Given the description of an element on the screen output the (x, y) to click on. 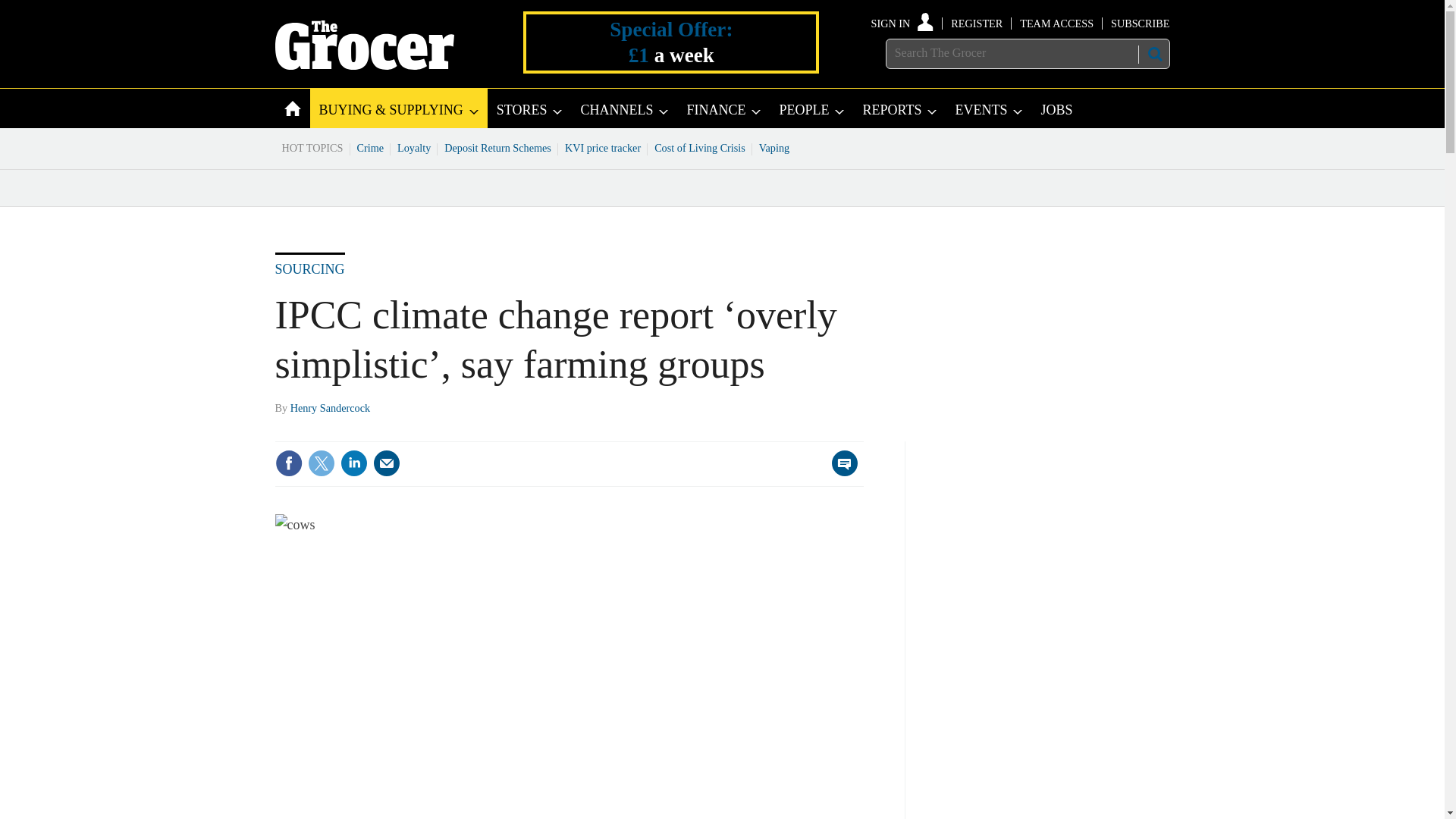
Deposit Return Schemes (497, 147)
Share this on Twitter (320, 462)
Crime (370, 147)
SIGN IN (902, 23)
Vaping (774, 147)
Cost of Living Crisis (699, 147)
Share this on Facebook (288, 462)
TEAM ACCESS (1056, 23)
Loyalty (414, 147)
Share this on Linked in (352, 462)
